Given the description of an element on the screen output the (x, y) to click on. 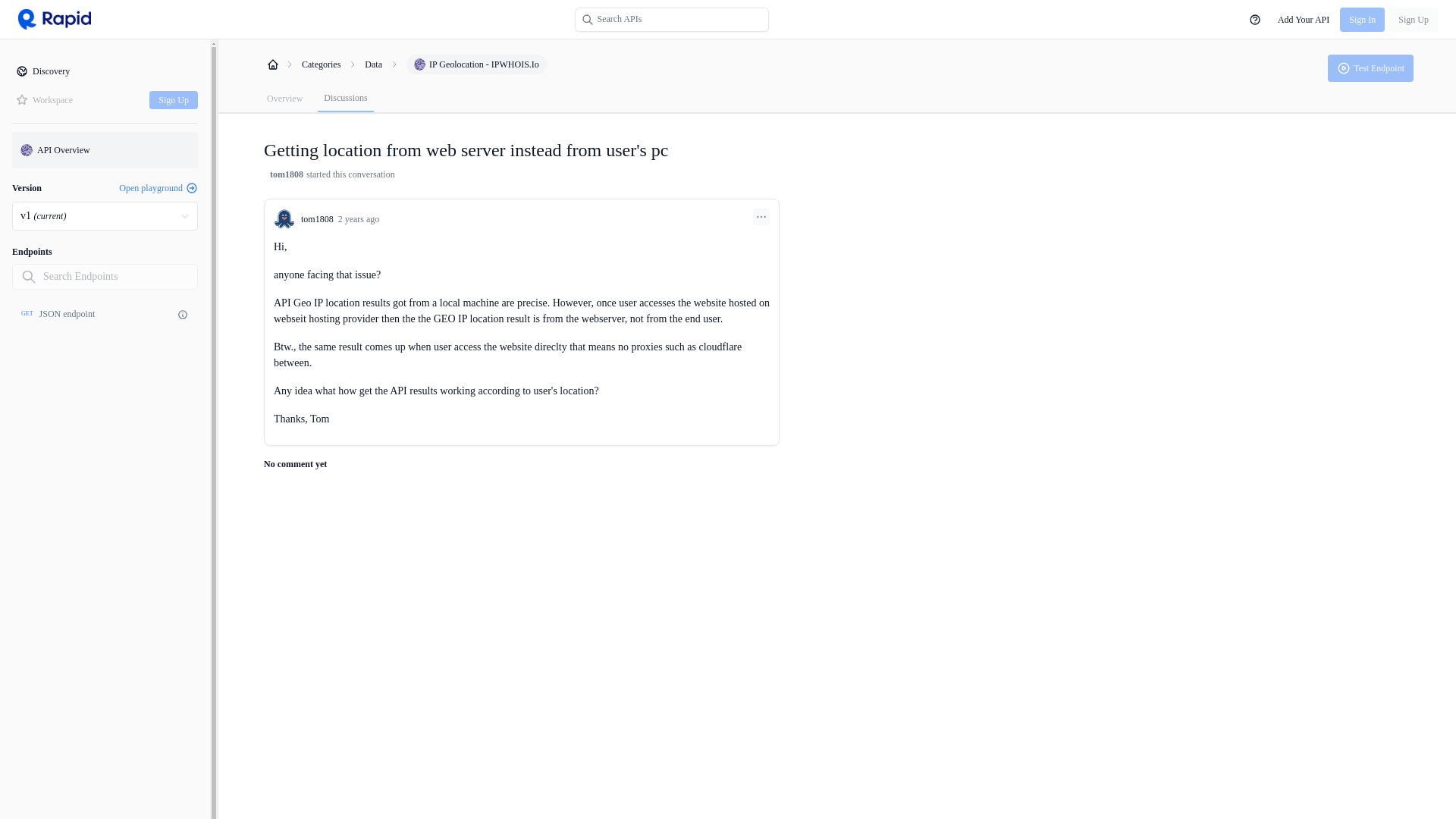
Discovery (104, 71)
API Overview (104, 149)
You need to login to RapidAPI (1370, 67)
Add Your API (1303, 19)
Sign Up (173, 99)
Test Endpoint (1370, 67)
Discussions (344, 98)
Categories (320, 64)
JSON endpoint (67, 313)
Sign Up (1413, 19)
IP Geolocation - IPWHOIS.Io (475, 64)
Overview (284, 98)
Sign In (1361, 19)
Data (104, 313)
